Given the description of an element on the screen output the (x, y) to click on. 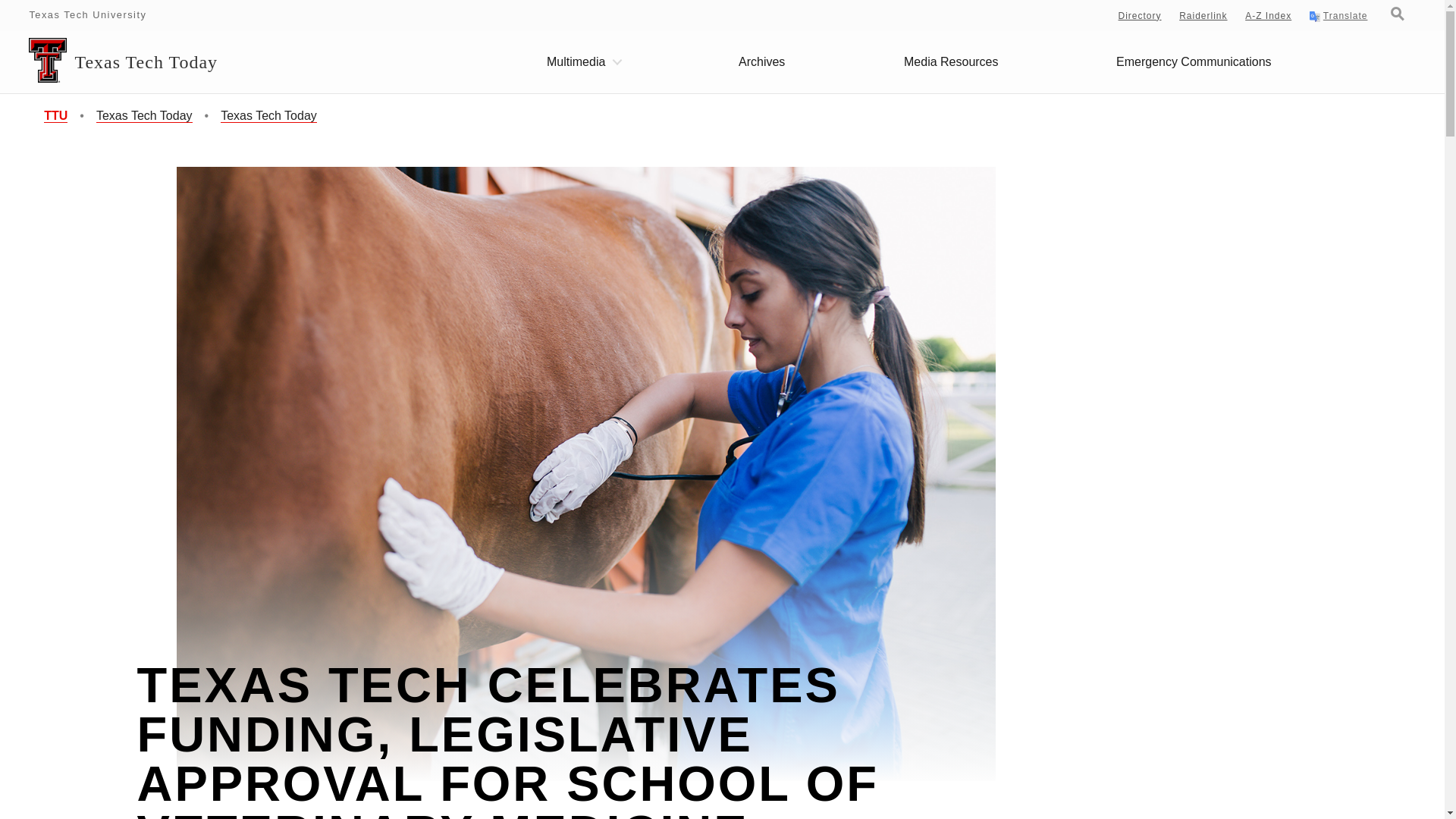
Archives (761, 61)
Texas Tech University (88, 14)
Directory (1139, 15)
A-Z Index (1267, 15)
Texas Tech Today (269, 115)
Multimedia (582, 61)
TTU (54, 115)
Texas Tech Today (144, 115)
Raiderlink (1203, 15)
Media Resources (951, 61)
Emergency Communications (1193, 61)
Translate (1338, 16)
